Given the description of an element on the screen output the (x, y) to click on. 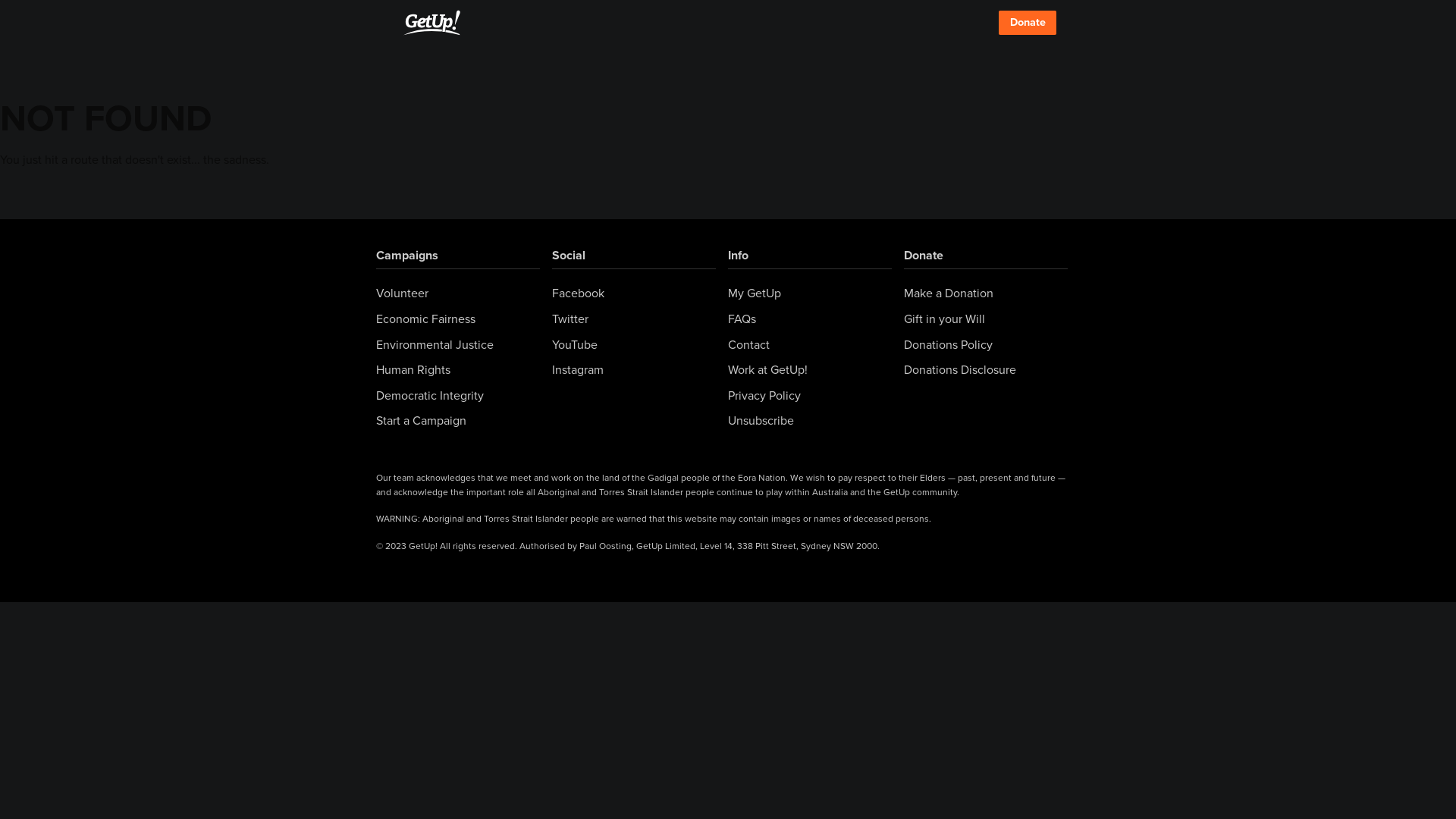
Gift in your Will Element type: text (944, 318)
Make a Donation Element type: text (948, 293)
Contact Element type: text (748, 344)
My GetUp Element type: text (754, 293)
YouTube Element type: text (574, 344)
Work at GetUp! Element type: text (767, 369)
Facebook Element type: text (578, 293)
Donate Element type: text (1027, 22)
Social Element type: text (568, 255)
Start a Campaign Element type: text (421, 420)
Environmental Justice Element type: text (434, 344)
Instagram Element type: text (577, 369)
Volunteer Element type: text (402, 293)
Democratic Integrity Element type: text (429, 395)
Privacy Policy Element type: text (764, 395)
Human Rights Element type: text (413, 369)
Economic Fairness Element type: text (425, 318)
Unsubscribe Element type: text (760, 420)
Donate Element type: text (923, 255)
FAQs Element type: text (742, 318)
Twitter Element type: text (570, 318)
Donations Disclosure Element type: text (959, 369)
Info Element type: text (738, 255)
Campaigns Element type: text (407, 255)
Donations Policy Element type: text (947, 344)
